Given the description of an element on the screen output the (x, y) to click on. 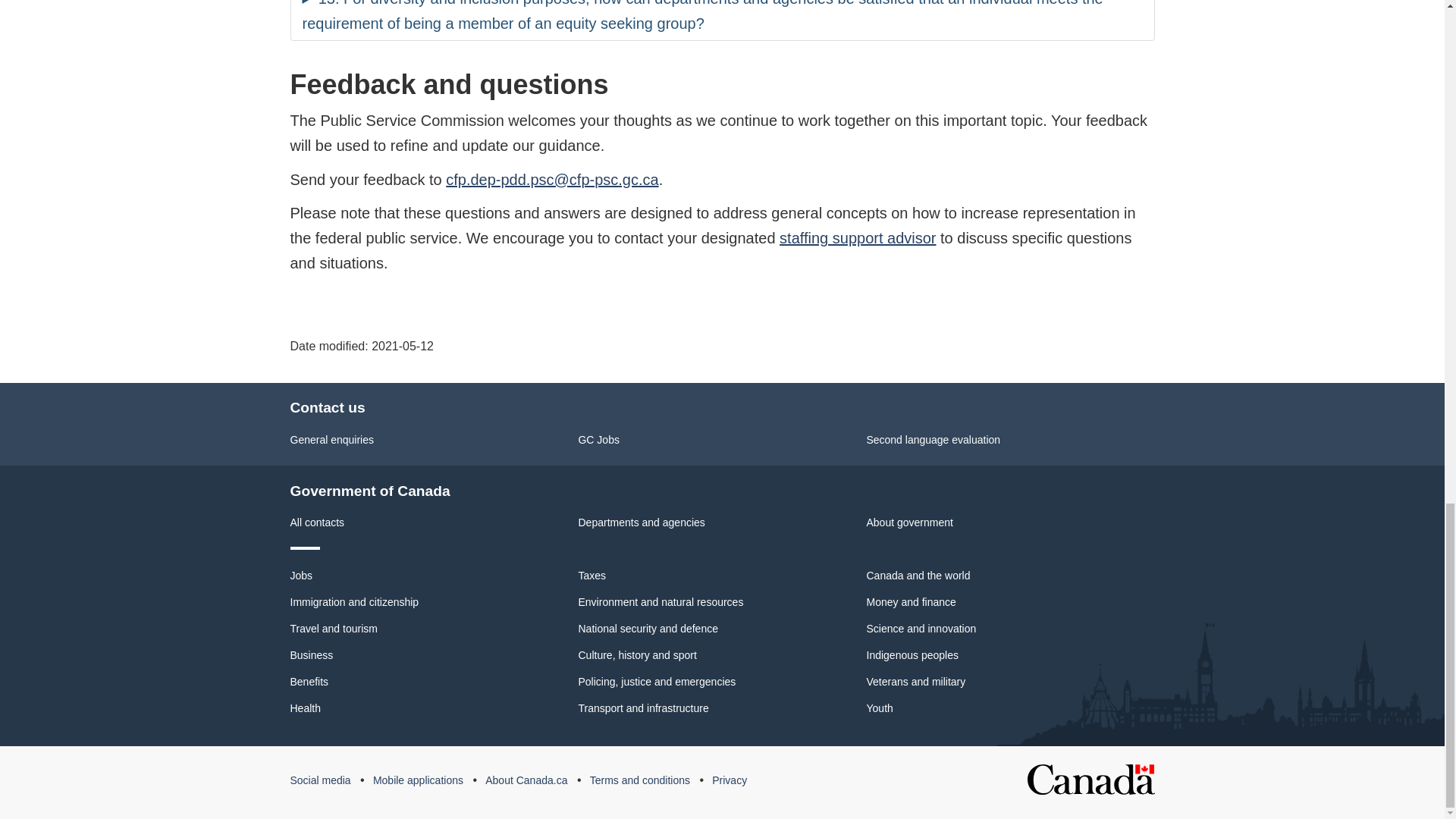
General enquiries (331, 439)
staffing support advisor (857, 238)
Second language evaluation (933, 439)
All contacts (316, 522)
GC Jobs (598, 439)
Departments and agencies (641, 522)
